Given the description of an element on the screen output the (x, y) to click on. 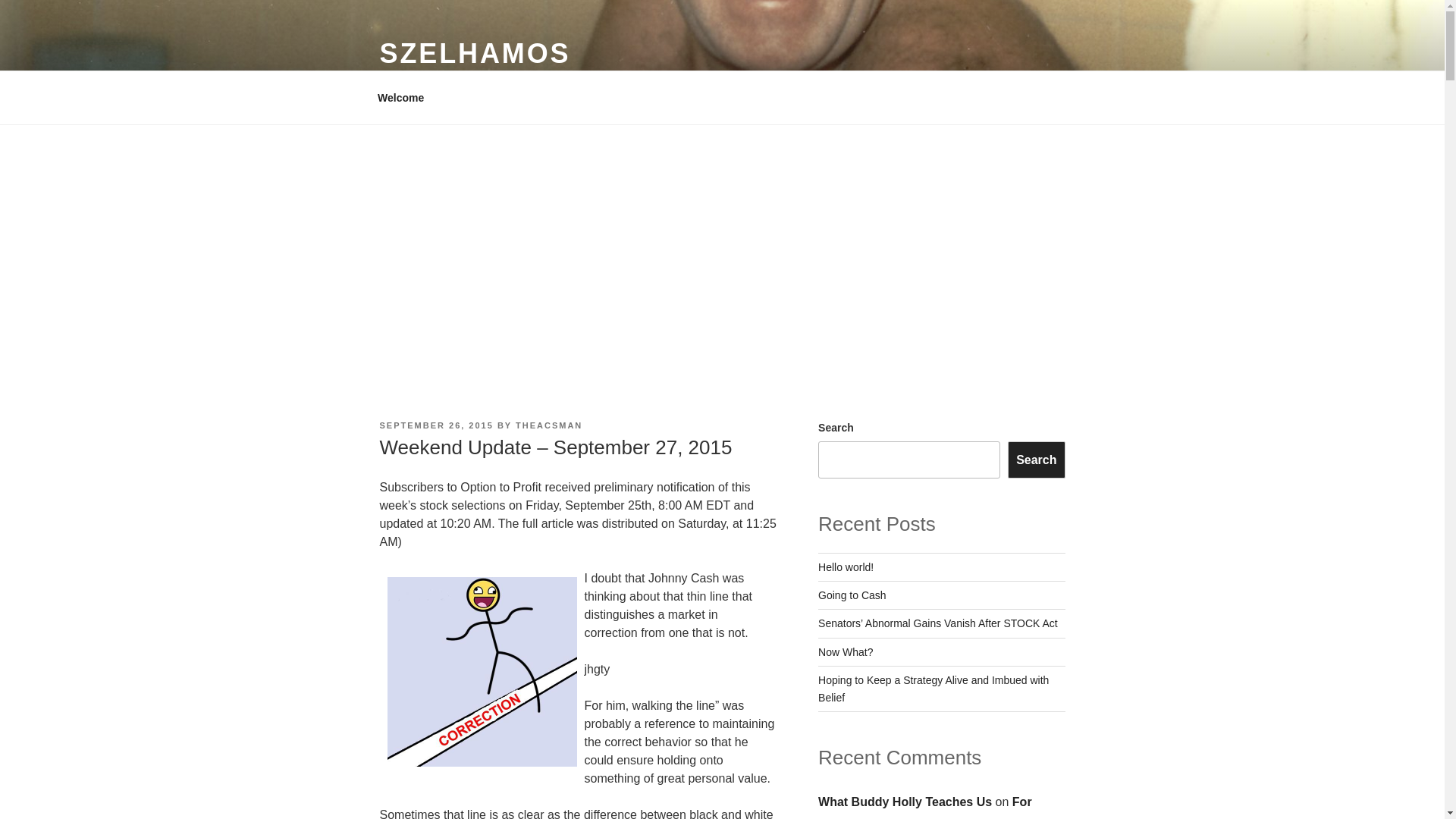
Now What? (845, 652)
Welcome (400, 97)
What Buddy Holly Teaches Us (904, 801)
SEPTEMBER 26, 2015 (435, 424)
Hoping to Keep a Strategy Alive and Imbued with Belief (933, 688)
THEACSMAN (548, 424)
Search (1035, 459)
For Reformed Broker (925, 807)
Going to Cash (852, 594)
SZELHAMOS (474, 52)
